Given the description of an element on the screen output the (x, y) to click on. 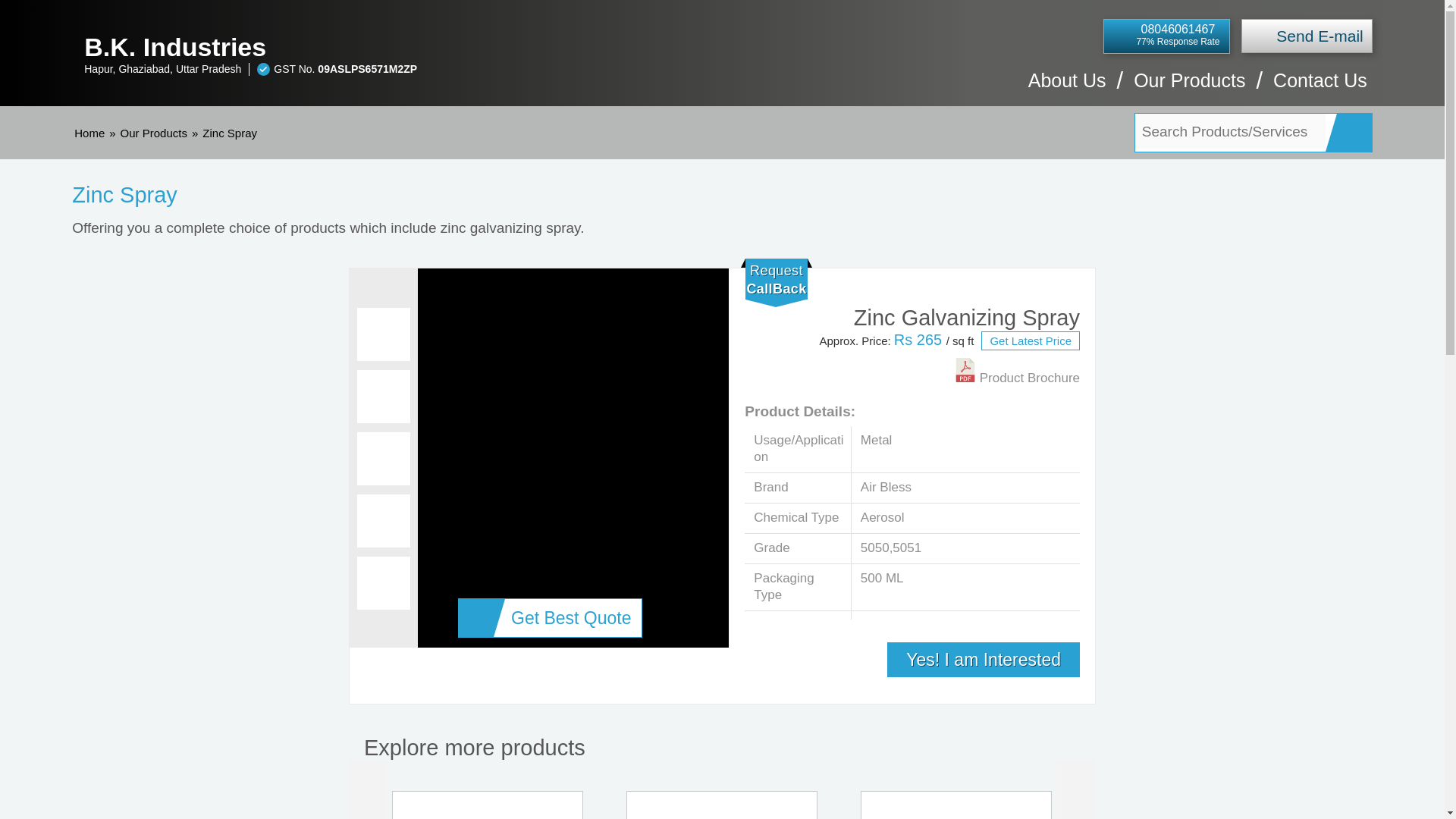
Contact Us (1319, 88)
B.K. Industries (422, 46)
Our Products (153, 132)
Home (89, 132)
About Us (1066, 88)
Our Products (1189, 88)
